Given the description of an element on the screen output the (x, y) to click on. 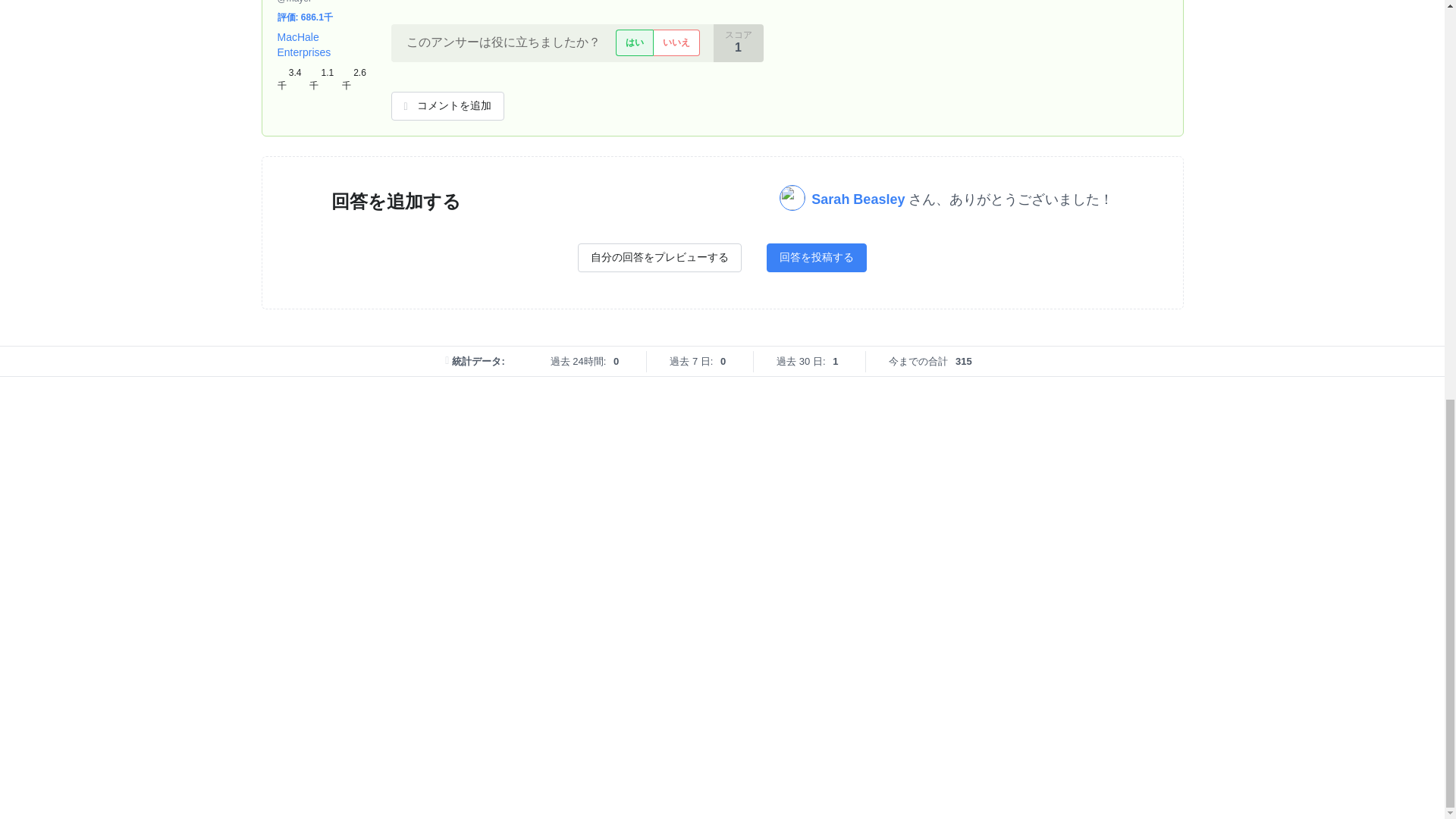
MacHale Enterprises (304, 44)
